Given the description of an element on the screen output the (x, y) to click on. 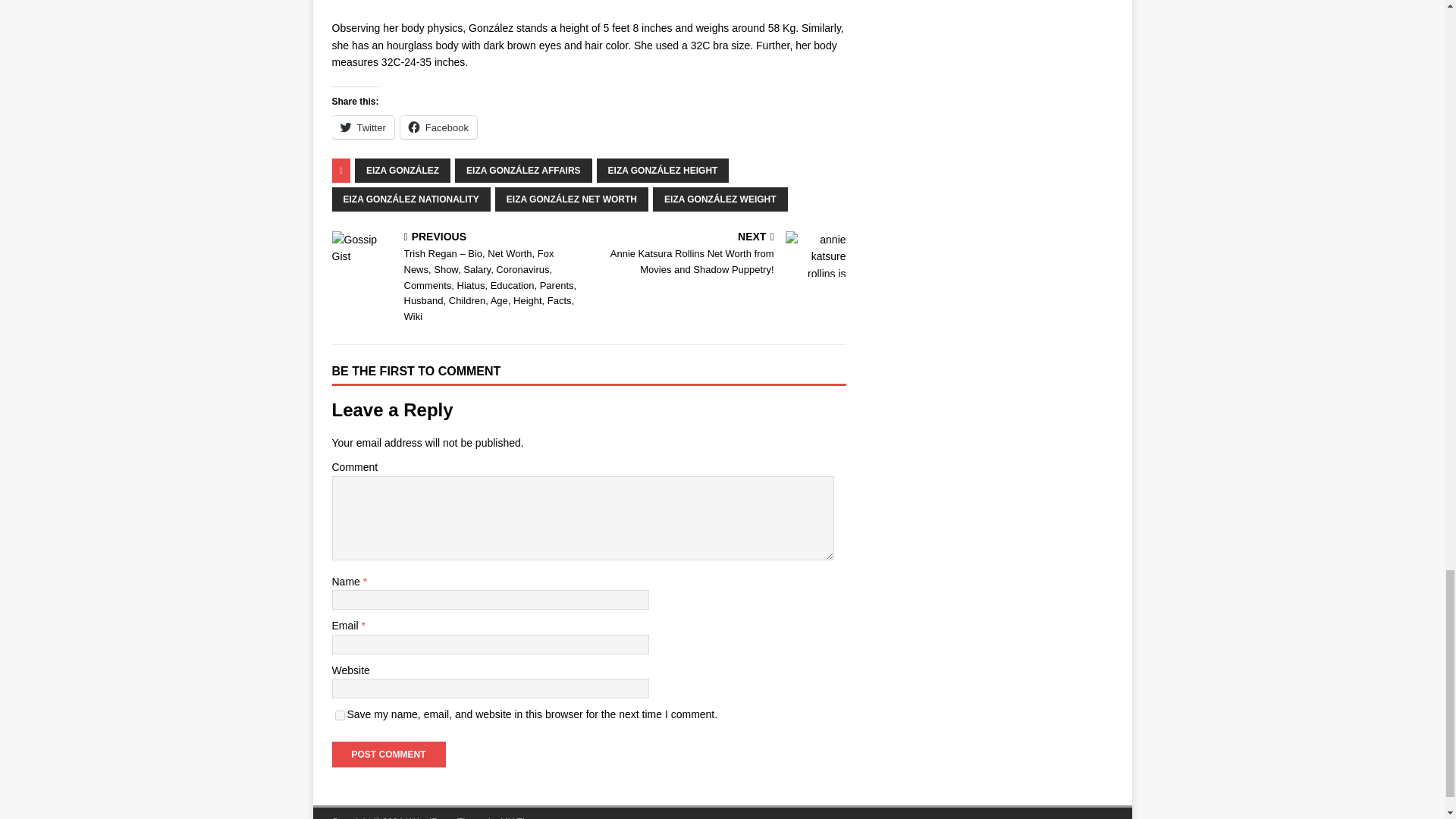
Click to share on Twitter (362, 127)
Click to share on Facebook (438, 127)
Facebook (438, 127)
Post Comment (388, 754)
yes (339, 715)
Post Comment (388, 754)
Twitter (362, 127)
